Given the description of an element on the screen output the (x, y) to click on. 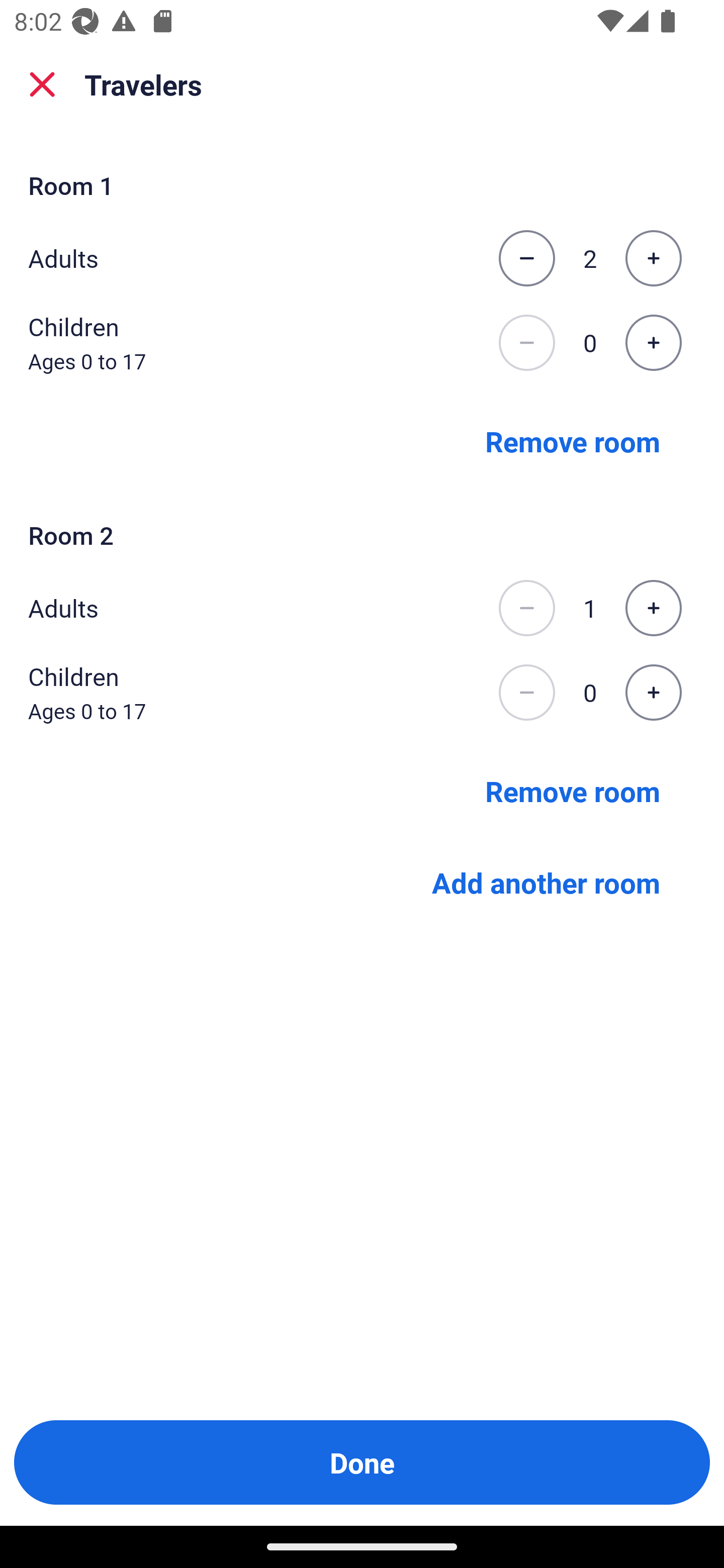
close (42, 84)
Decrease the number of adults (526, 258)
Increase the number of adults (653, 258)
Decrease the number of children (526, 343)
Increase the number of children (653, 343)
Remove room (572, 440)
Decrease the number of adults (526, 608)
Increase the number of adults (653, 608)
Decrease the number of children (526, 692)
Increase the number of children (653, 692)
Remove room (572, 790)
Add another room (545, 882)
Done (361, 1462)
